Given the description of an element on the screen output the (x, y) to click on. 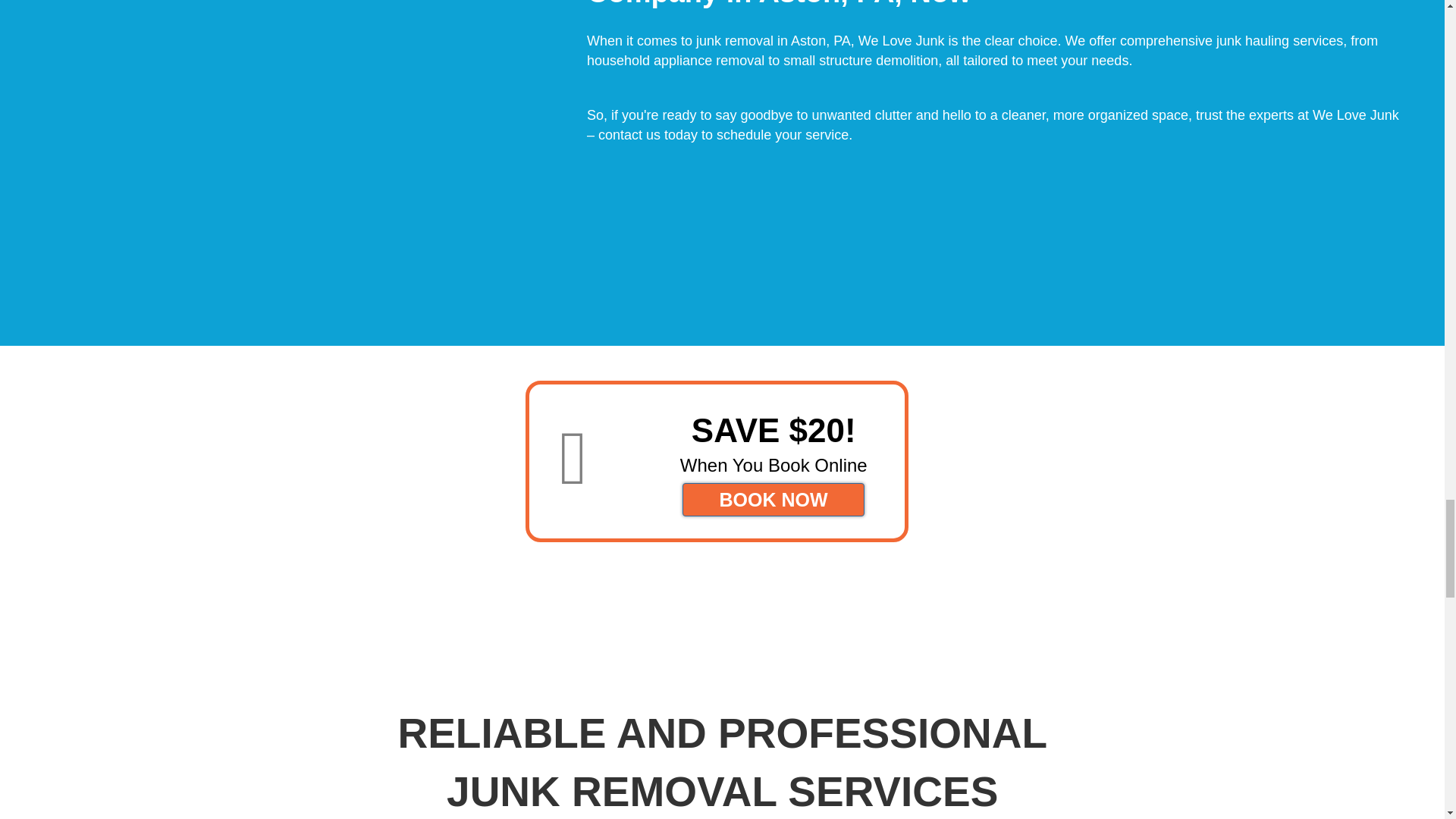
junk-removal-office (297, 111)
